Given the description of an element on the screen output the (x, y) to click on. 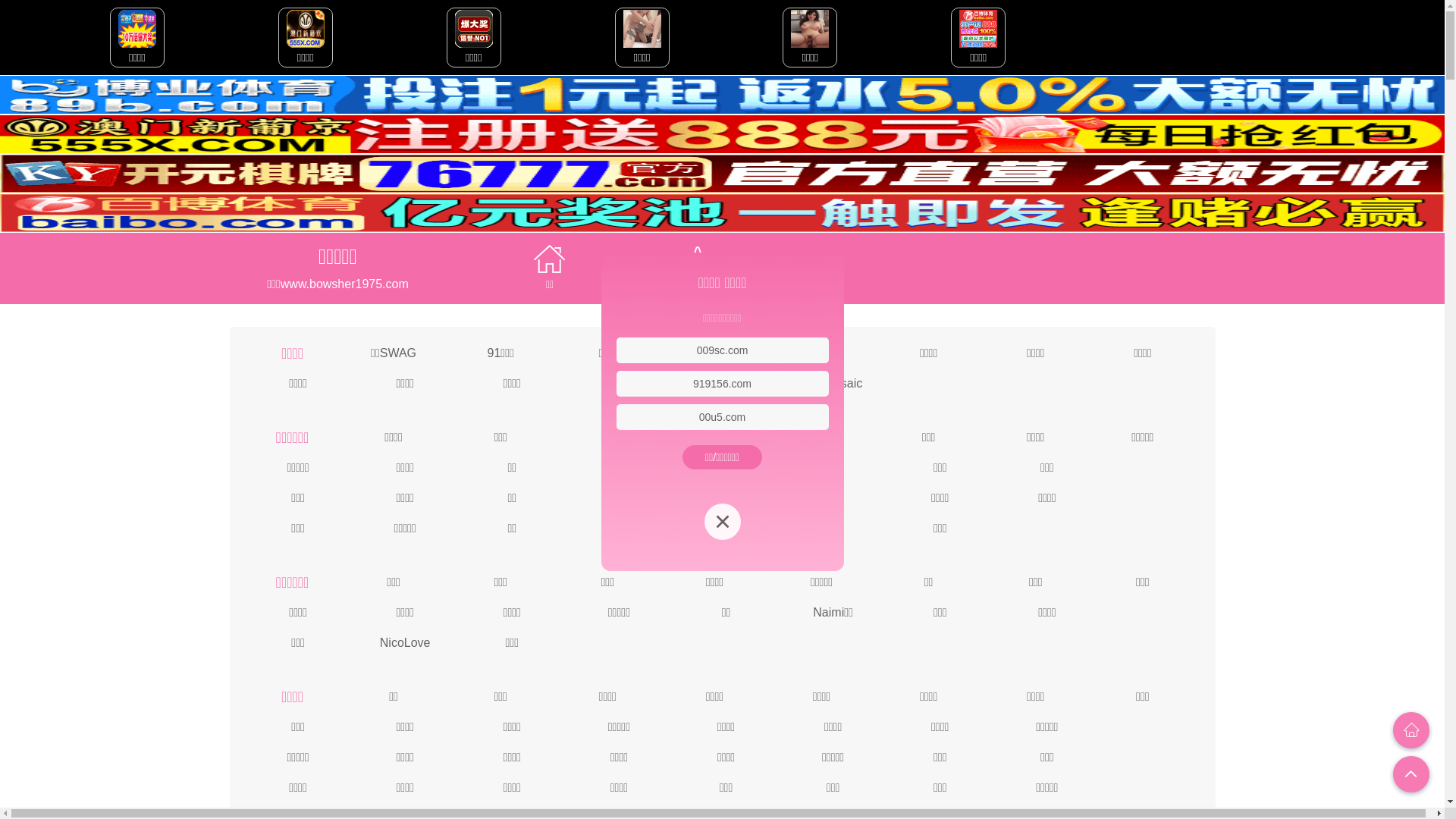
009sc.com Element type: text (722, 350)
JVID Element type: text (714, 351)
NicoLove Element type: text (404, 641)
919156.com Element type: text (722, 383)
ED Mosaic Element type: text (832, 382)
00u5.com Element type: text (722, 417)
